Given the description of an element on the screen output the (x, y) to click on. 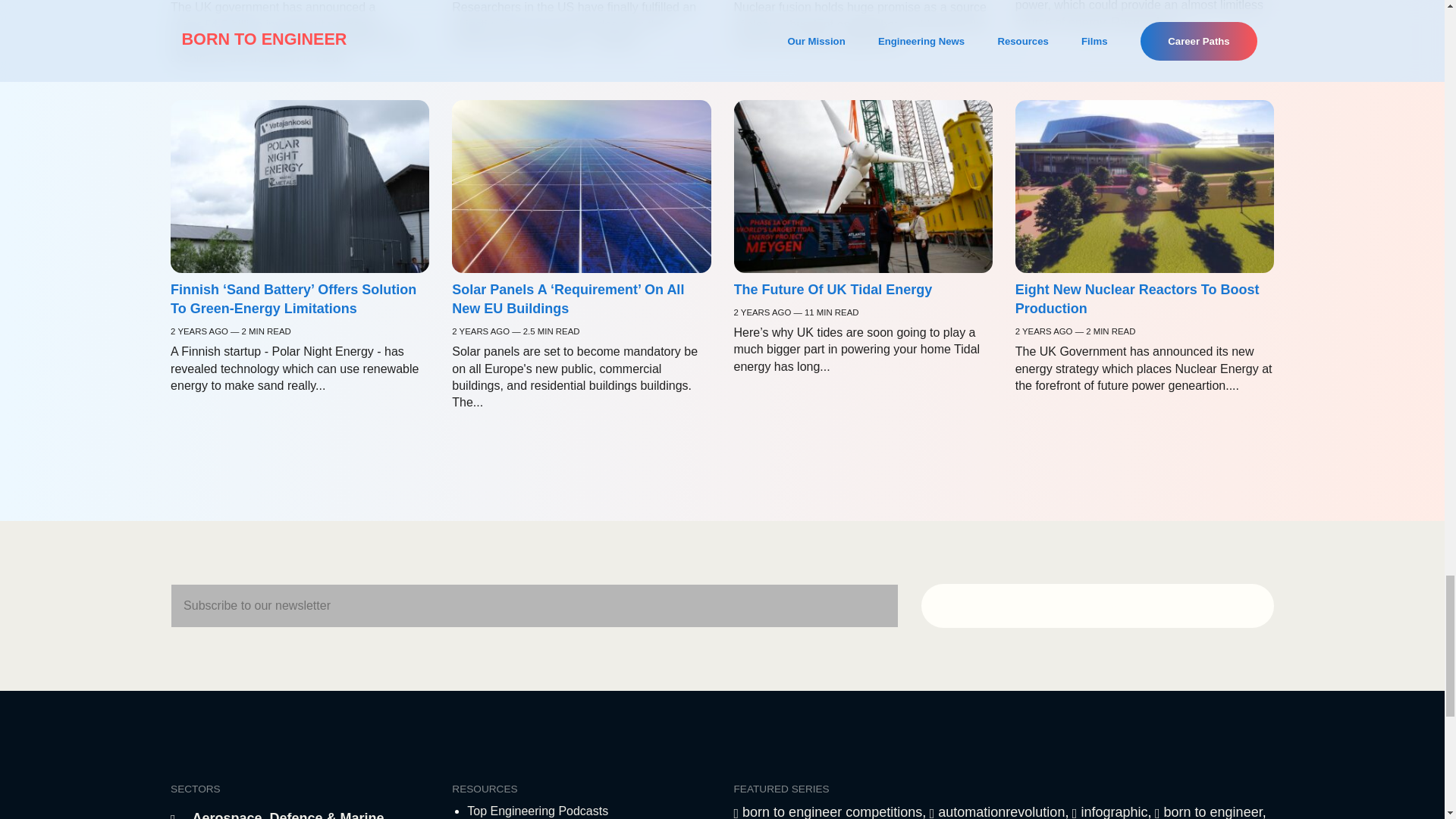
Permanent Link to The future of UK Tidal energy (833, 289)
Subscribe (1097, 605)
